Given the description of an element on the screen output the (x, y) to click on. 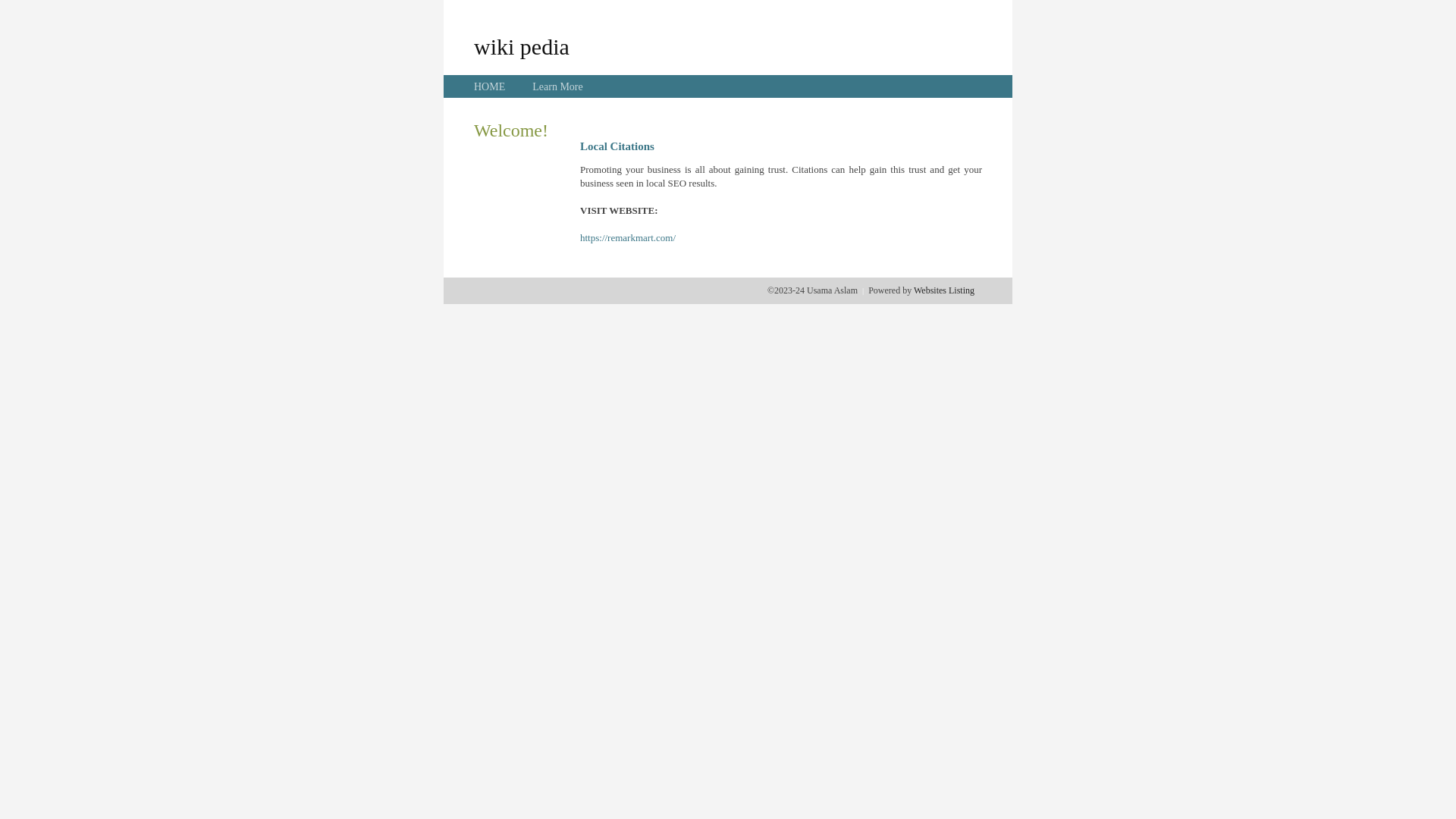
wiki pedia Element type: text (521, 46)
HOME Element type: text (489, 86)
Learn More Element type: text (557, 86)
https://remarkmart.com/ Element type: text (627, 237)
Websites Listing Element type: text (943, 290)
